Given the description of an element on the screen output the (x, y) to click on. 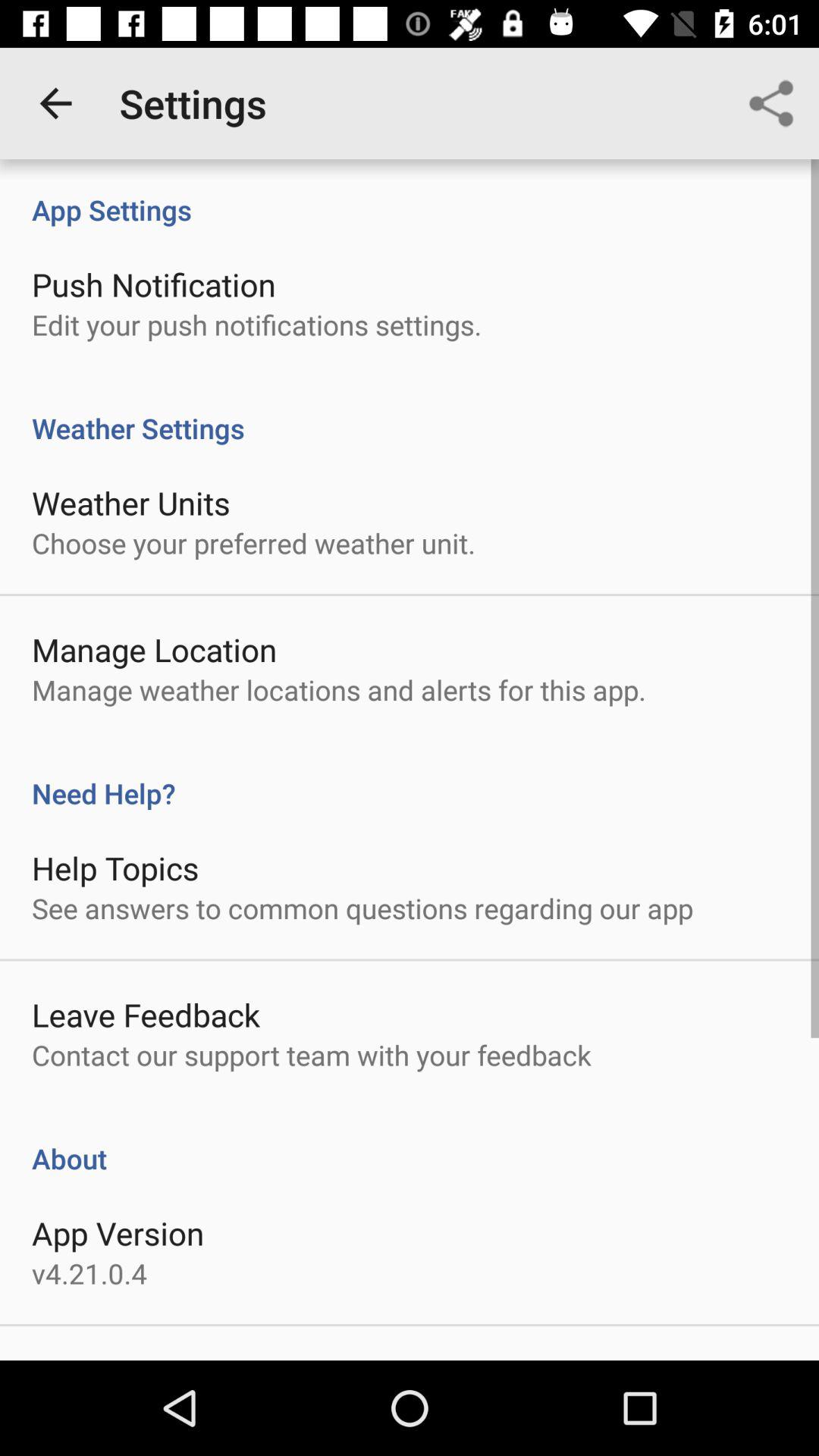
swipe to the contact our support item (311, 1054)
